Given the description of an element on the screen output the (x, y) to click on. 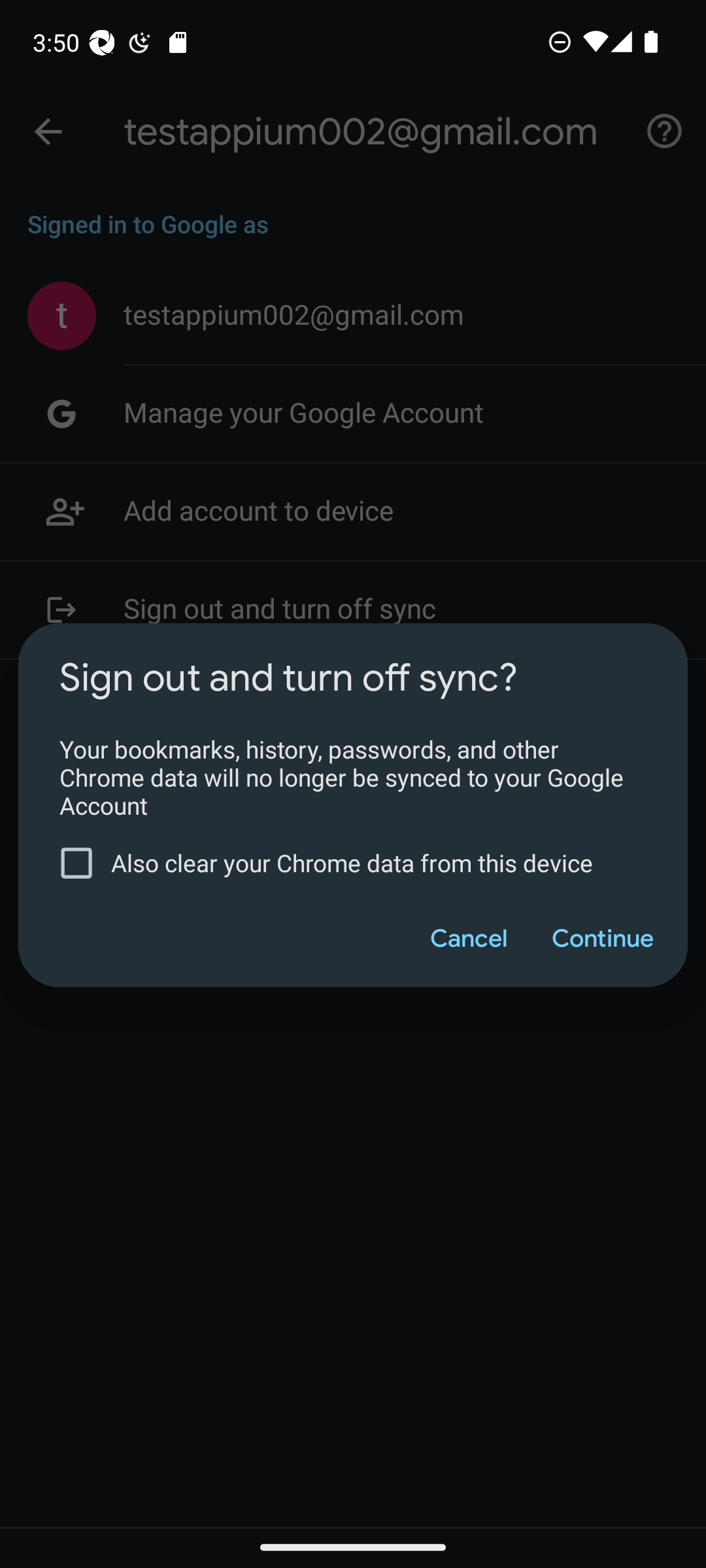
Also clear your Chrome data from this device (340, 862)
Cancel (468, 938)
Continue (601, 938)
